Given the description of an element on the screen output the (x, y) to click on. 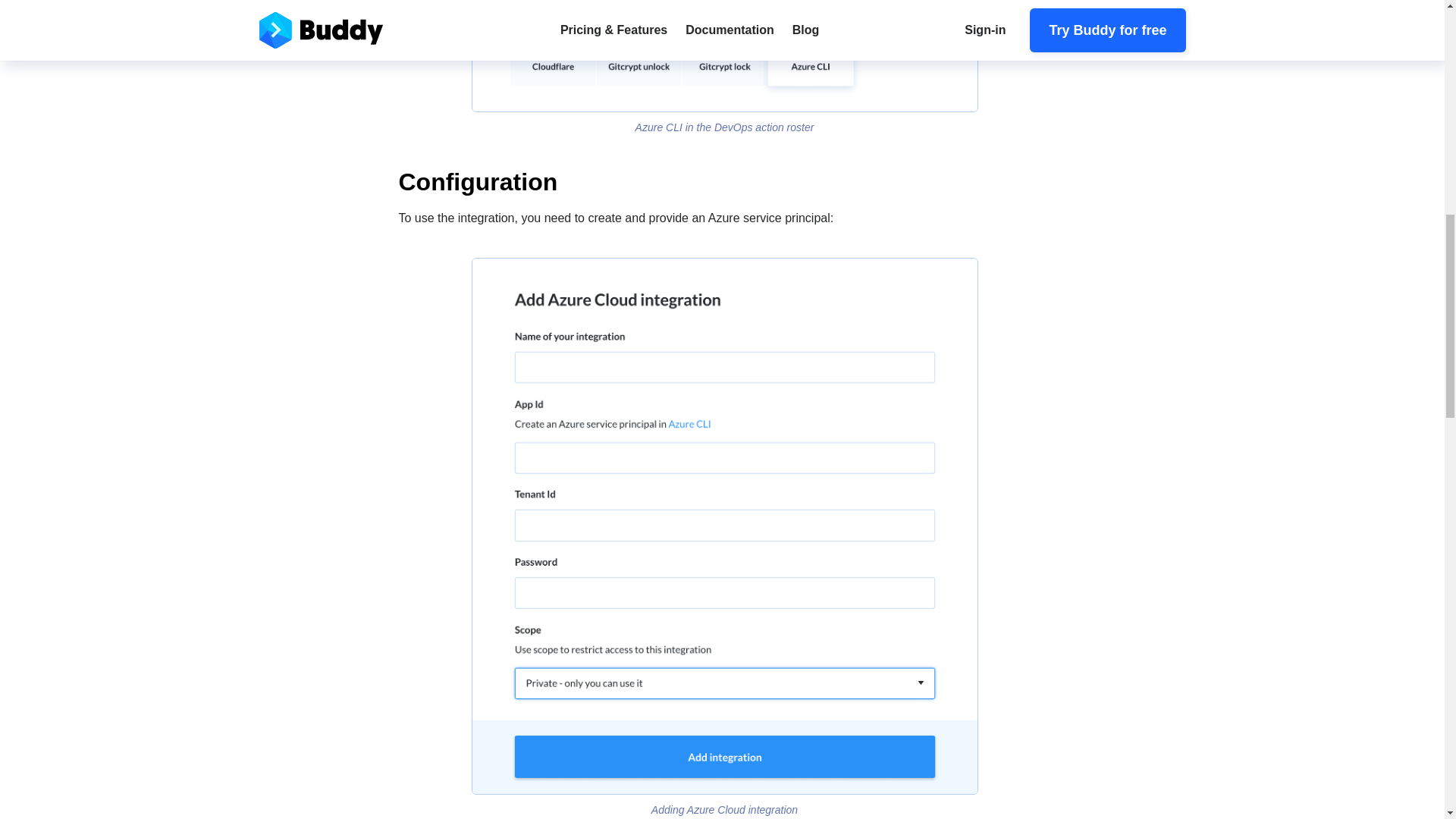
Configuration (724, 182)
